Given the description of an element on the screen output the (x, y) to click on. 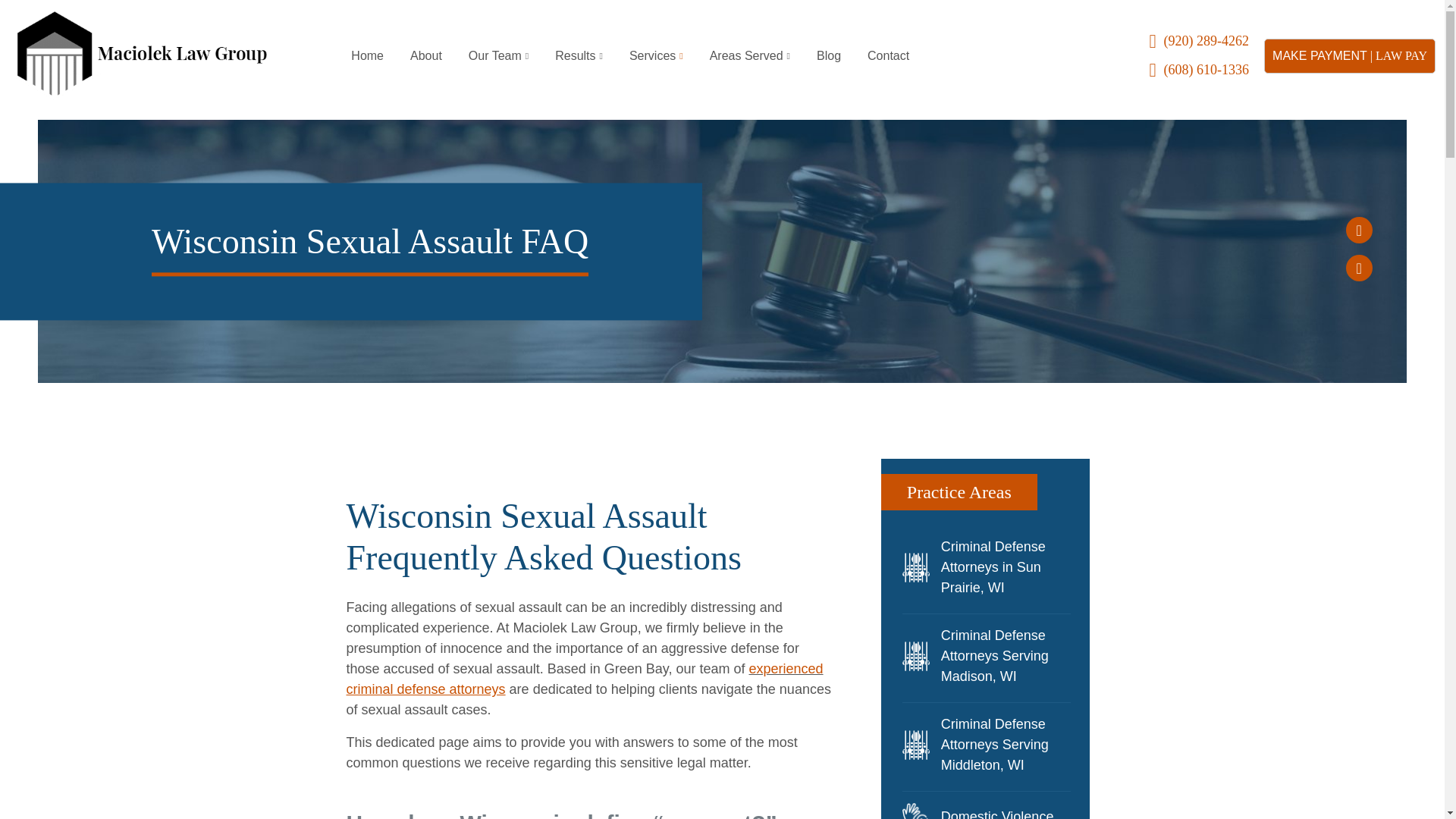
Contact (888, 55)
About (425, 55)
Services (655, 55)
Home (366, 55)
Blog (828, 55)
logo - Maciolek Law Group (137, 55)
Areas Served (750, 55)
Results (578, 55)
Our Team (498, 55)
